Given the description of an element on the screen output the (x, y) to click on. 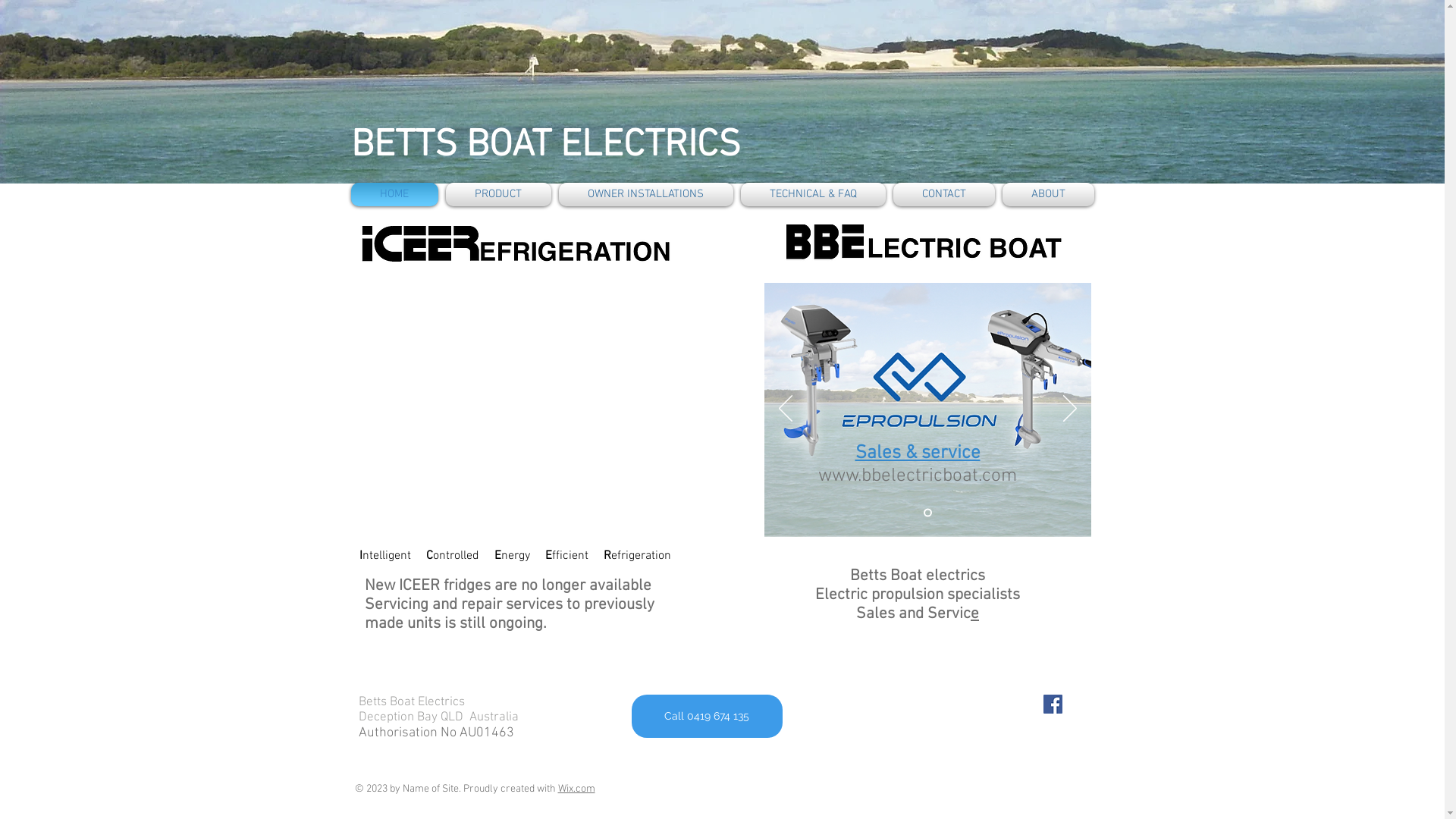
www.bbelectricboat.com Element type: text (917, 475)
CONTACT Element type: text (942, 194)
New ICEER fridges are no longer available  Element type: text (509, 586)
Sales and Servic Element type: text (913, 613)
e Element type: text (974, 613)
Sales & service Element type: text (936, 464)
Electric propulsion specialists Element type: text (917, 594)
HOME Element type: text (395, 194)
OWNER INSTALLATIONS Element type: text (646, 194)
ABOUT Element type: text (1045, 194)
Betts Boat electrics Element type: text (917, 575)
Wix.com Element type: text (576, 788)
Call 0419 674 135 Element type: text (705, 715)
